Given the description of an element on the screen output the (x, y) to click on. 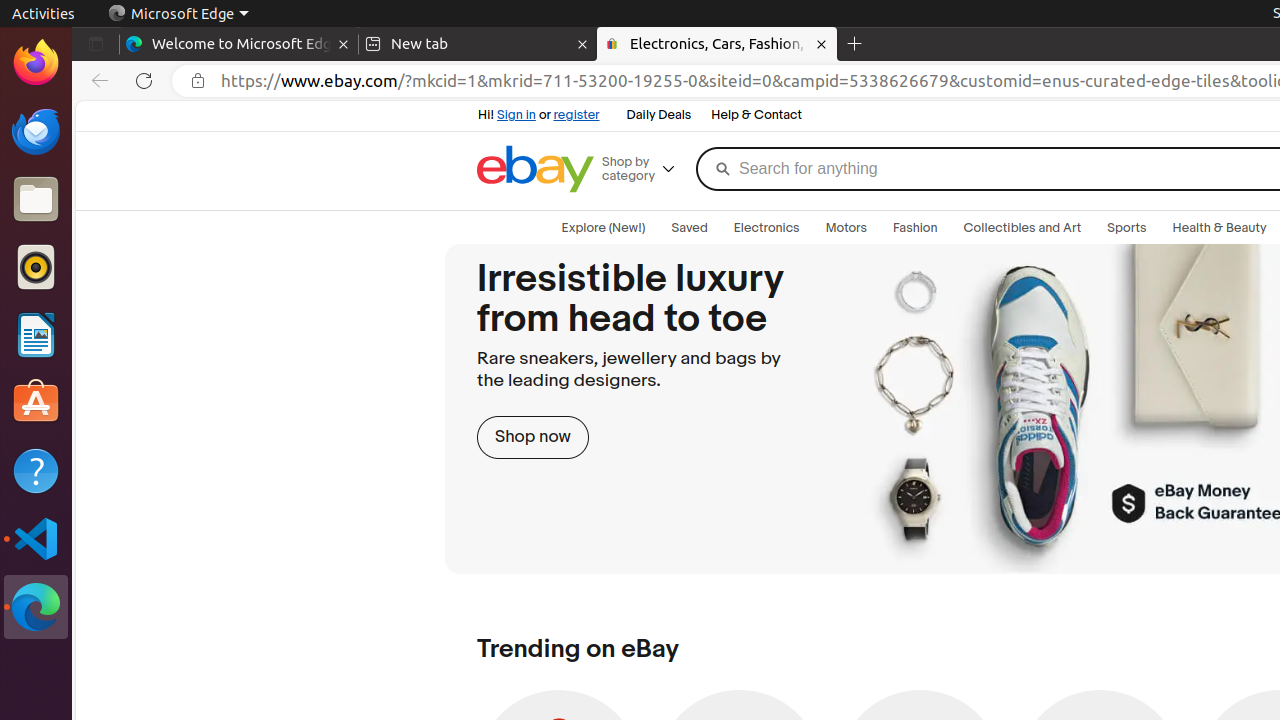
Rhythmbox Element type: push-button (36, 267)
Firefox Web Browser Element type: push-button (36, 63)
Tab actions menu Element type: push-button (96, 44)
Microsoft Edge Element type: push-button (36, 607)
Help Element type: push-button (36, 470)
